Given the description of an element on the screen output the (x, y) to click on. 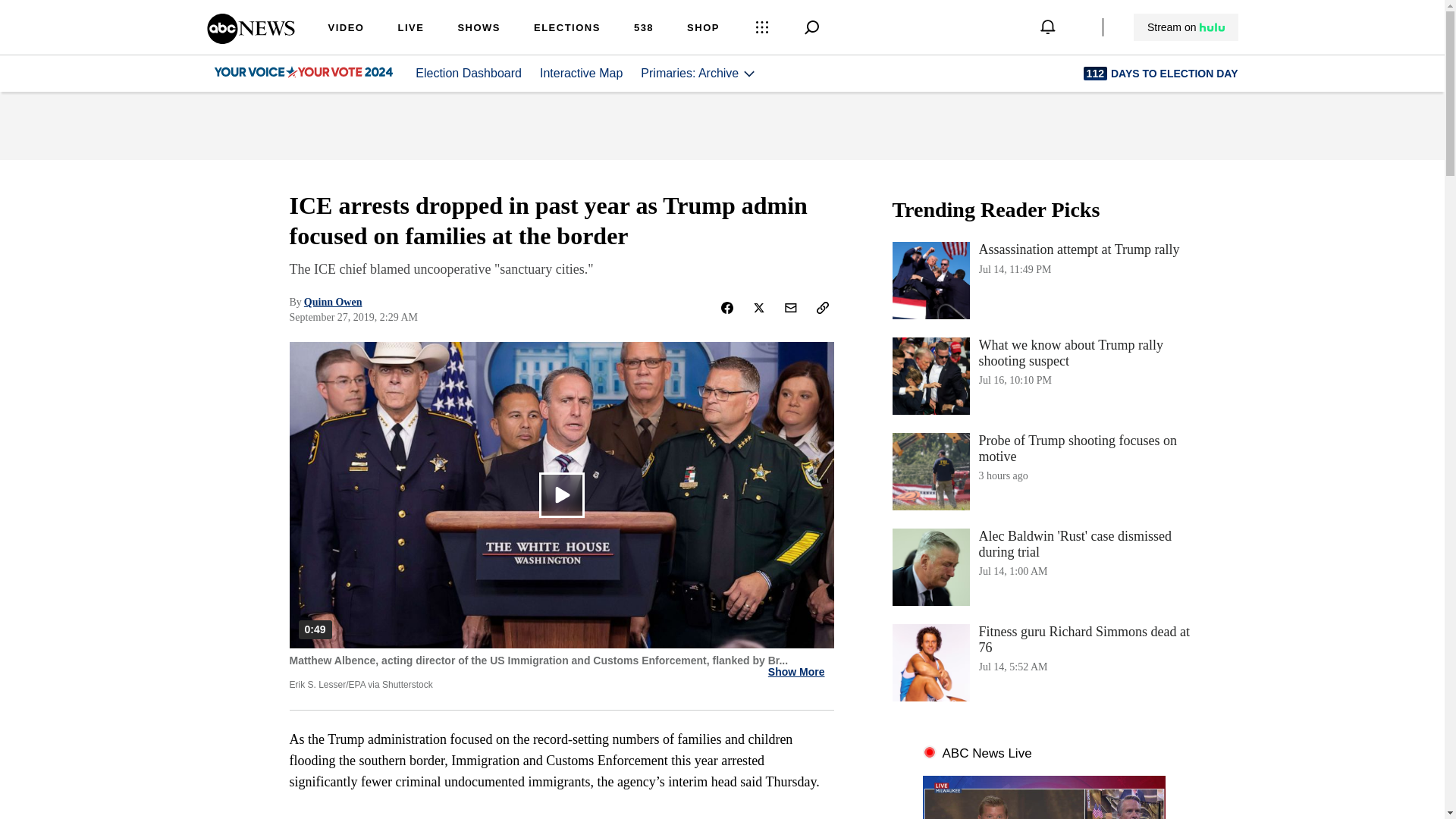
LIVE (410, 28)
SHOP (703, 28)
538 (643, 28)
VIDEO (345, 28)
Stream on (1185, 27)
ABC News (1043, 280)
Stream on (250, 38)
ELECTIONS (1186, 26)
Quinn Owen (1043, 471)
Primaries: Archive (566, 28)
SHOWS (1043, 662)
